Given the description of an element on the screen output the (x, y) to click on. 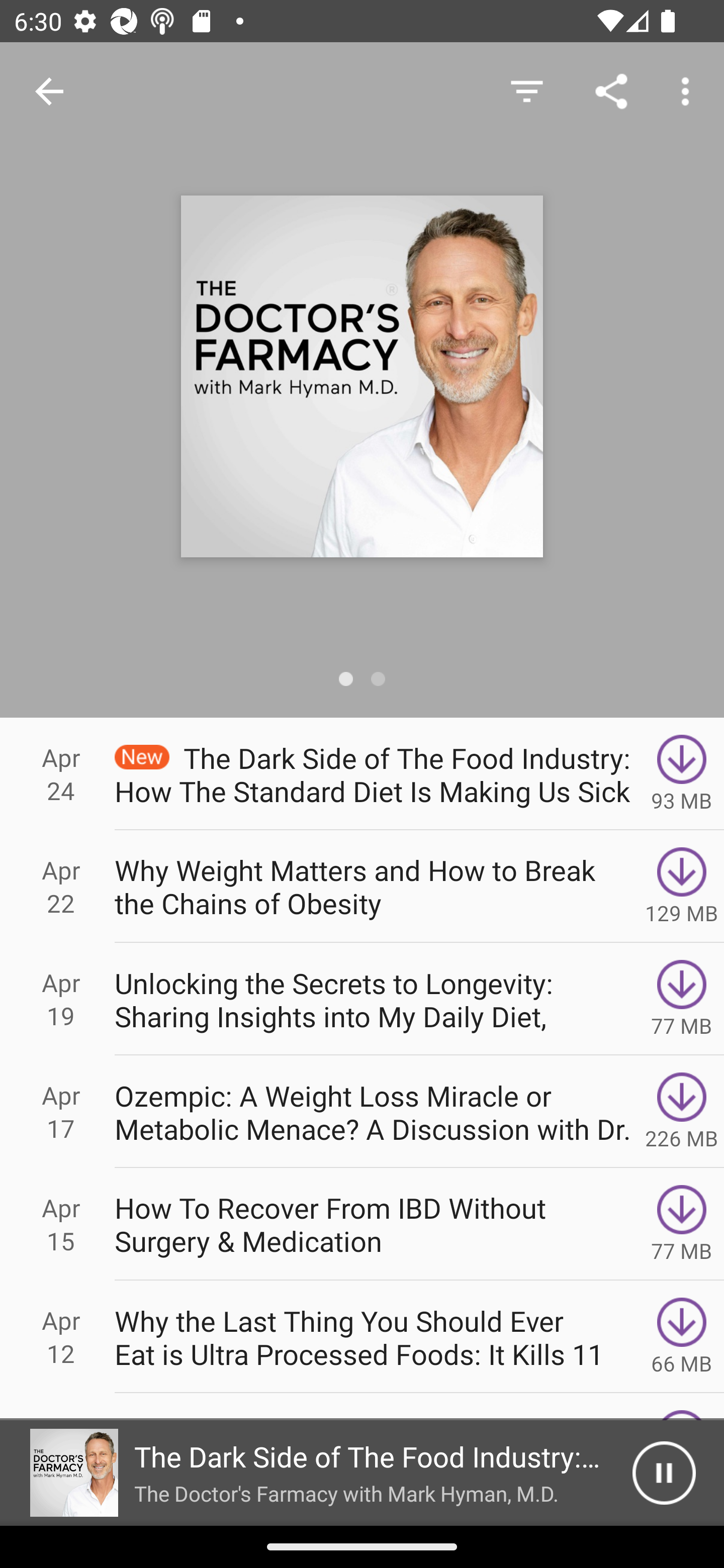
Navigate up (49, 91)
Hide Episodes (526, 90)
Share Link (611, 90)
More options (688, 90)
Download 93 MB (681, 773)
Download 129 MB (681, 885)
Download 77 MB (681, 998)
Download 226 MB (681, 1111)
Download 77 MB (681, 1224)
Download 66 MB (681, 1336)
Pause (663, 1472)
